Given the description of an element on the screen output the (x, y) to click on. 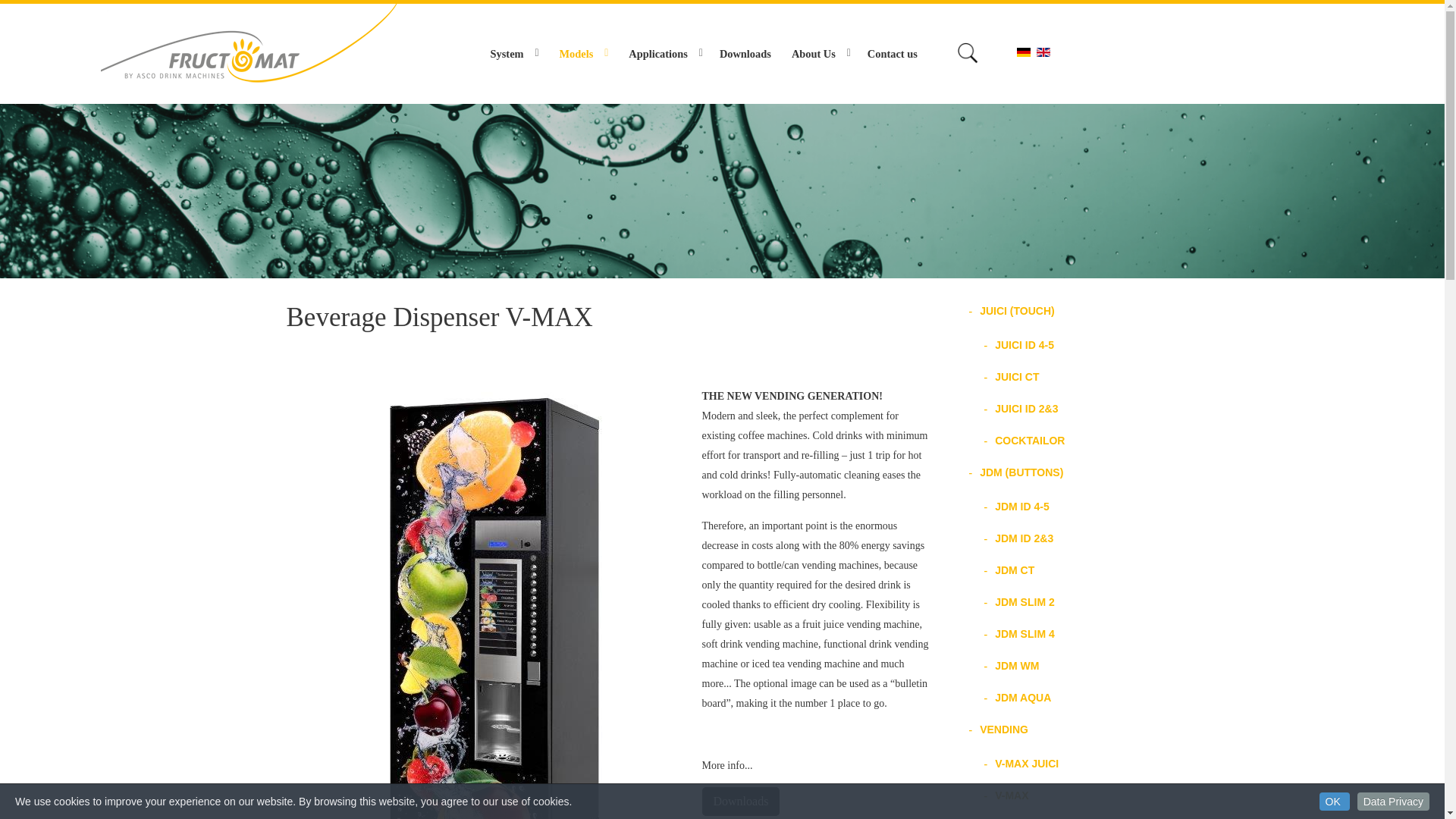
EN (1042, 51)
Downloads (740, 801)
DE (1023, 51)
Downloads (740, 799)
Applications (663, 53)
